Given the description of an element on the screen output the (x, y) to click on. 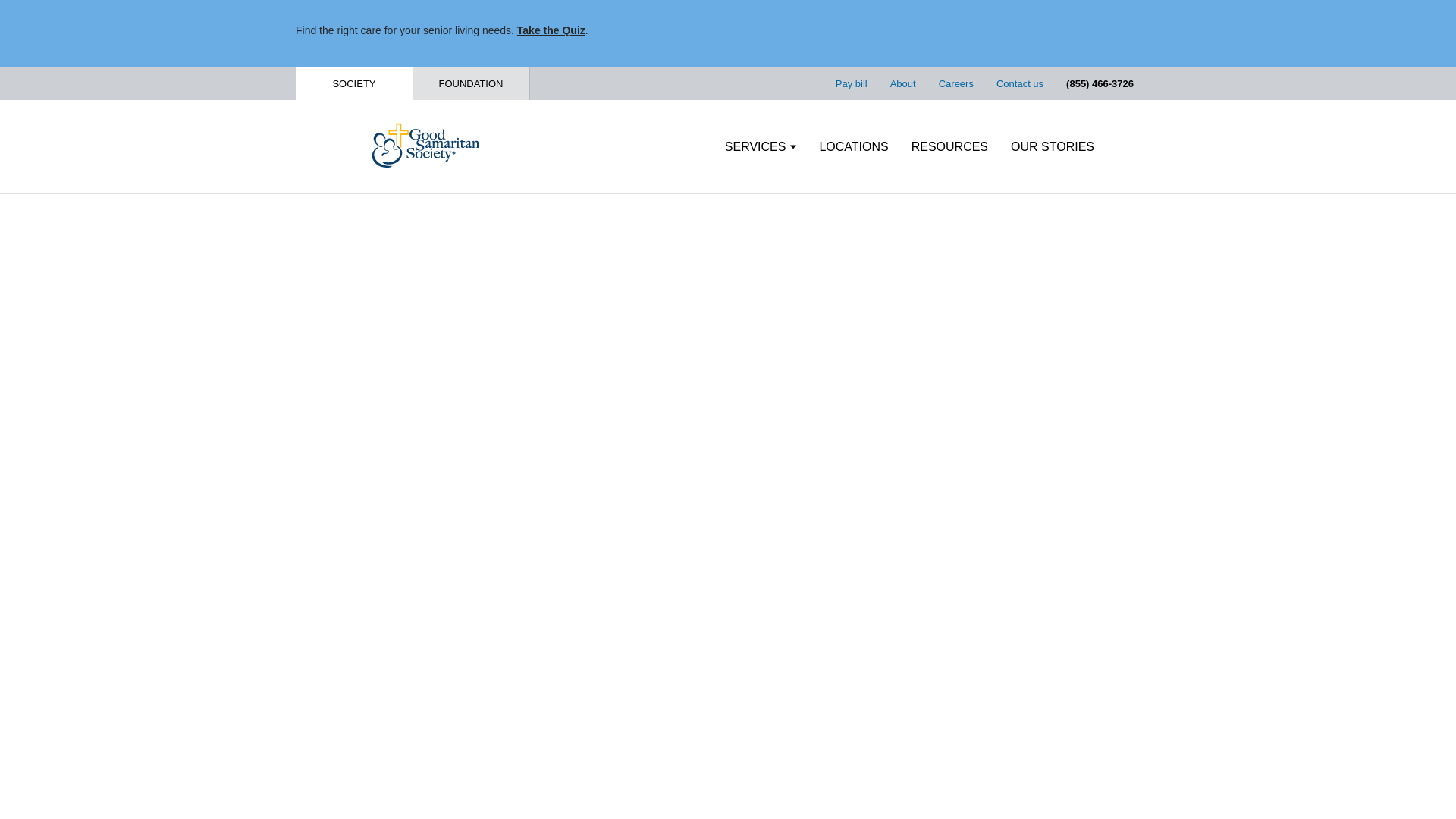
Careers (956, 83)
LOCATIONS (853, 146)
About (902, 83)
Contact us (1019, 83)
OUR STORIES (1052, 146)
SOCIETY (353, 83)
FOUNDATION (470, 83)
Take the Quiz (550, 30)
RESOURCES (949, 146)
Pay bill (851, 83)
